Given the description of an element on the screen output the (x, y) to click on. 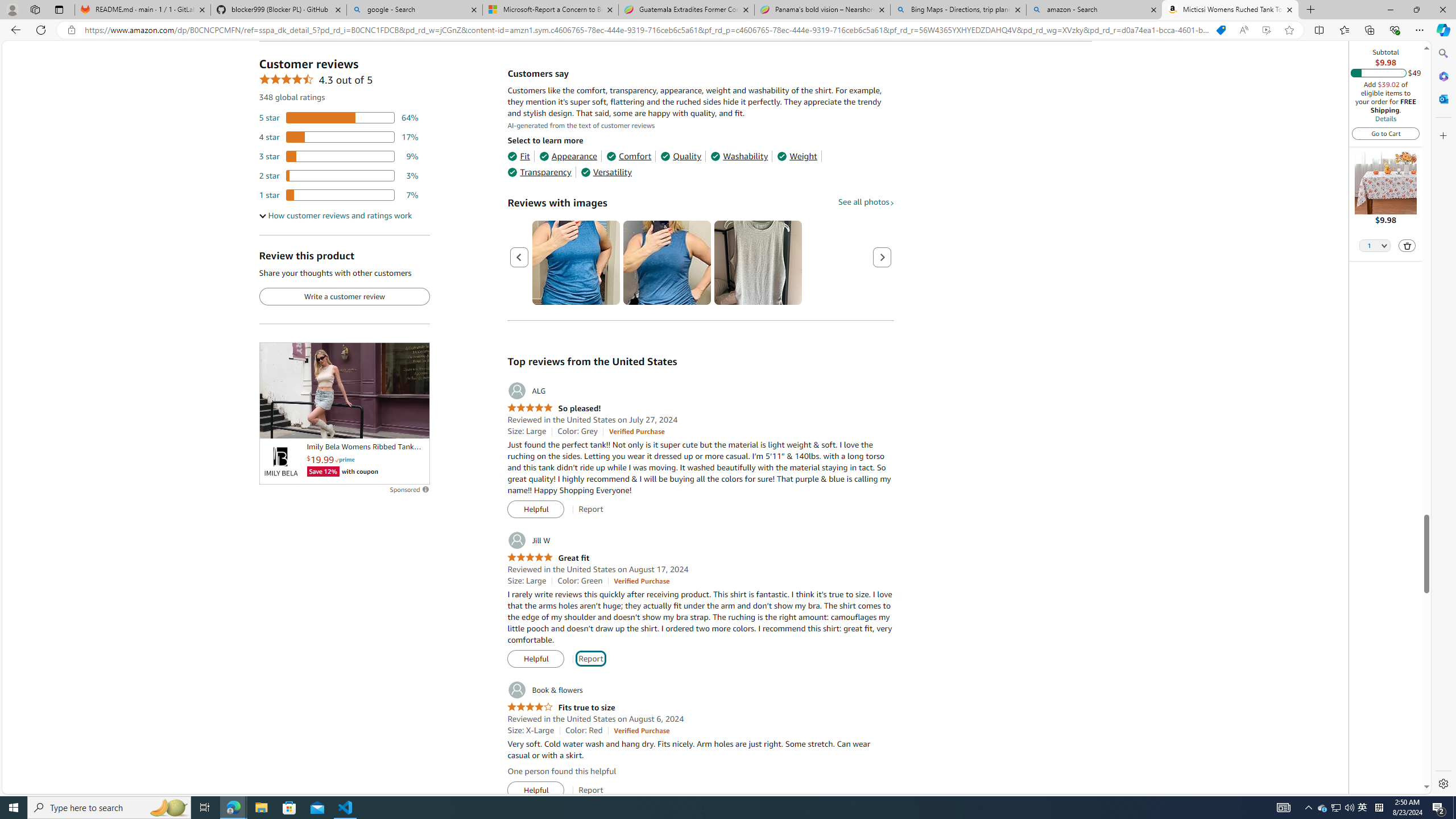
Microsoft-Report a Concern to Bing (550, 9)
Prime (344, 459)
Jill W (528, 540)
Unmute (414, 424)
Quality (681, 156)
Outlook (1442, 98)
amazon - Search (1094, 9)
Versatility (605, 172)
64 percent of reviews have 5 stars (339, 117)
Fit (517, 156)
Weight (796, 156)
